Given the description of an element on the screen output the (x, y) to click on. 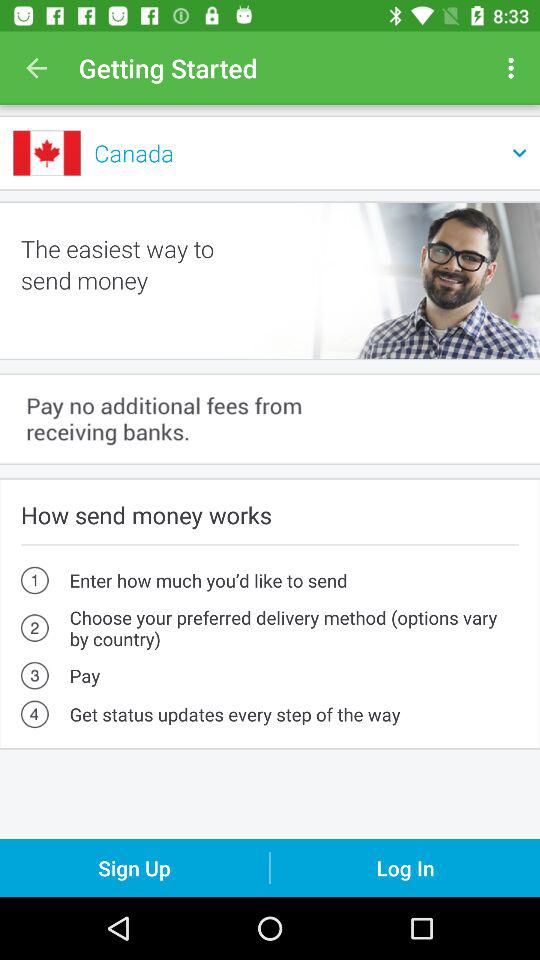
click the sign up (134, 867)
